Given the description of an element on the screen output the (x, y) to click on. 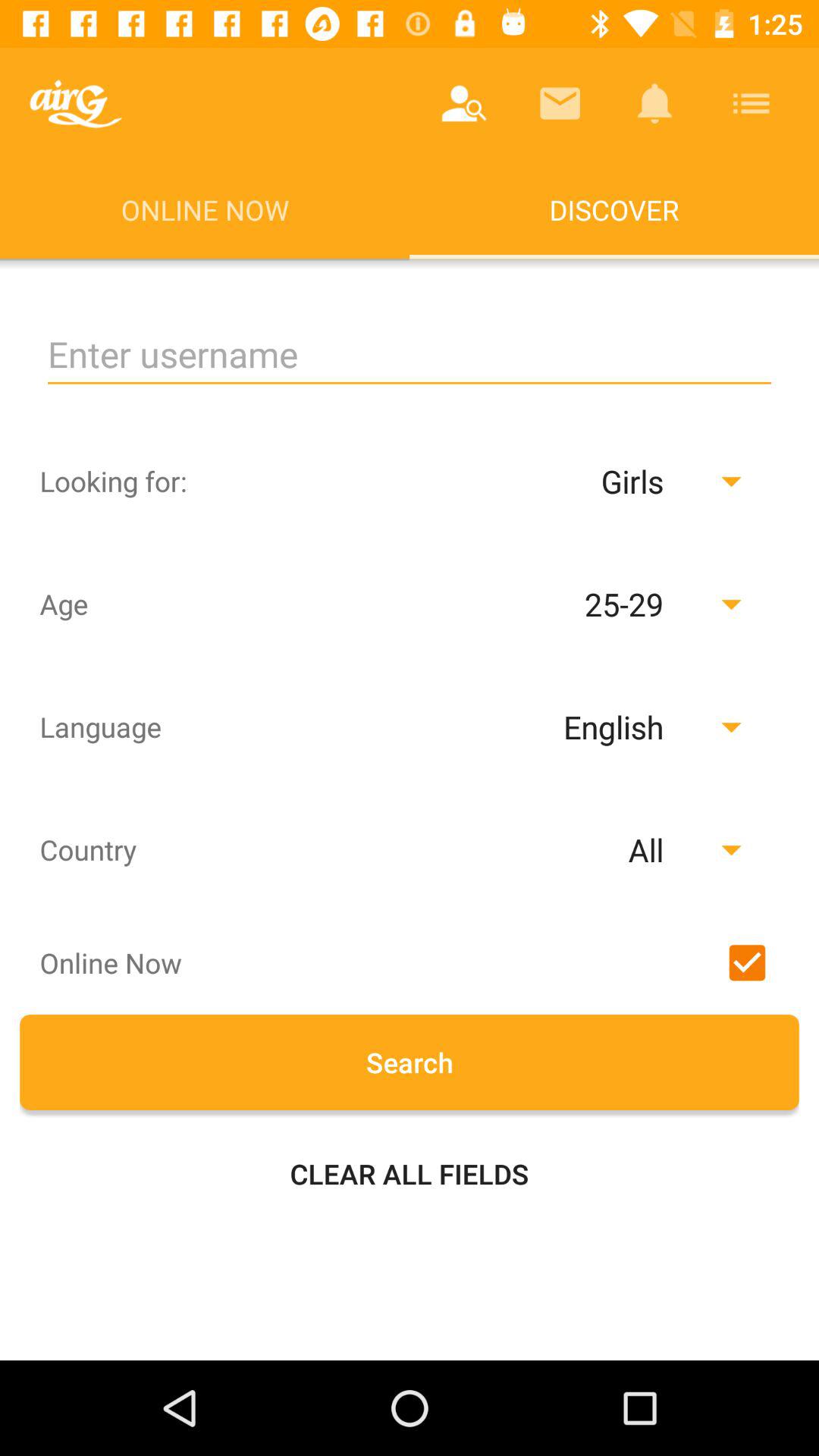
tap the item below search icon (409, 1173)
